Given the description of an element on the screen output the (x, y) to click on. 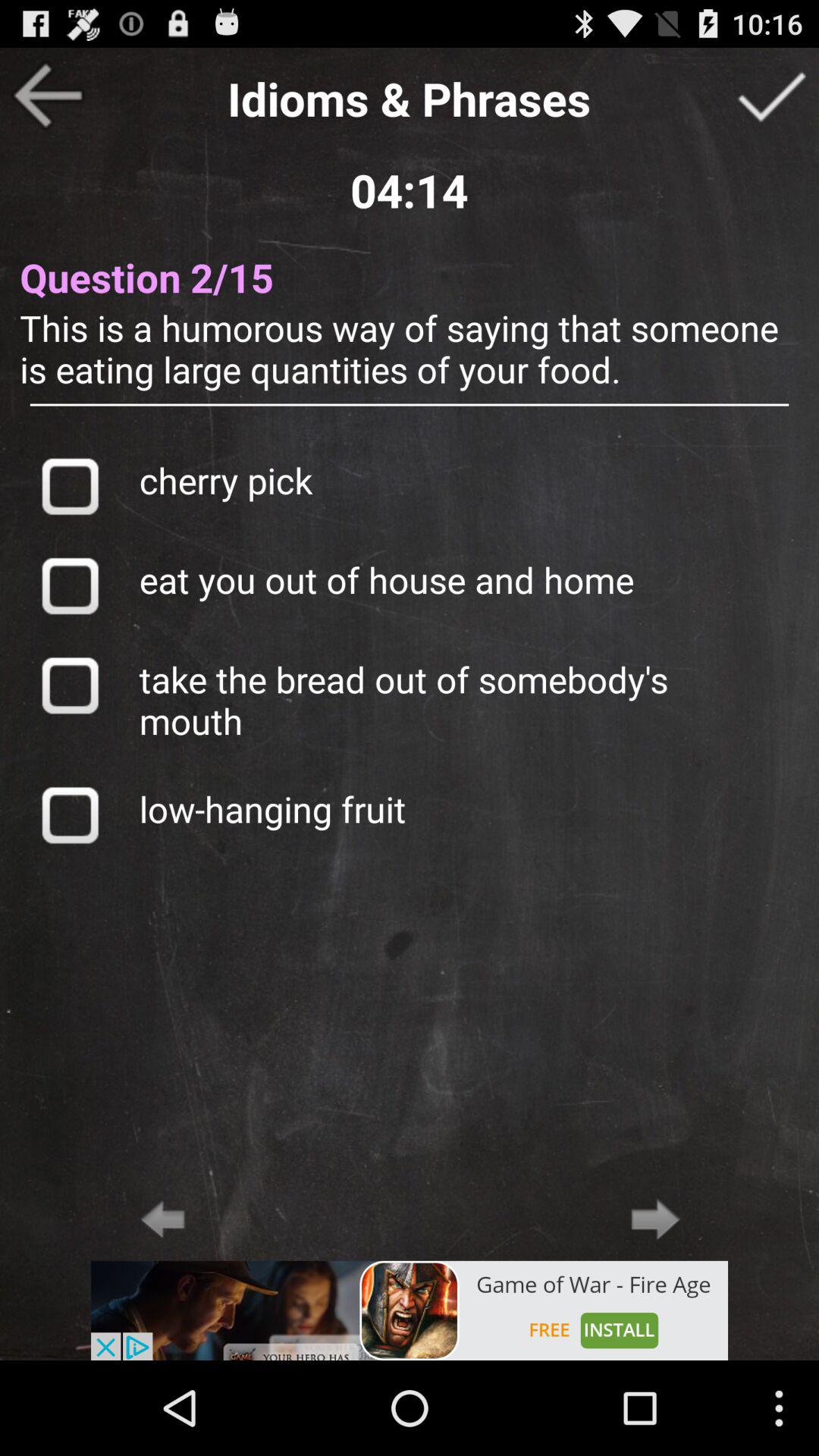
next (655, 1218)
